Given the description of an element on the screen output the (x, y) to click on. 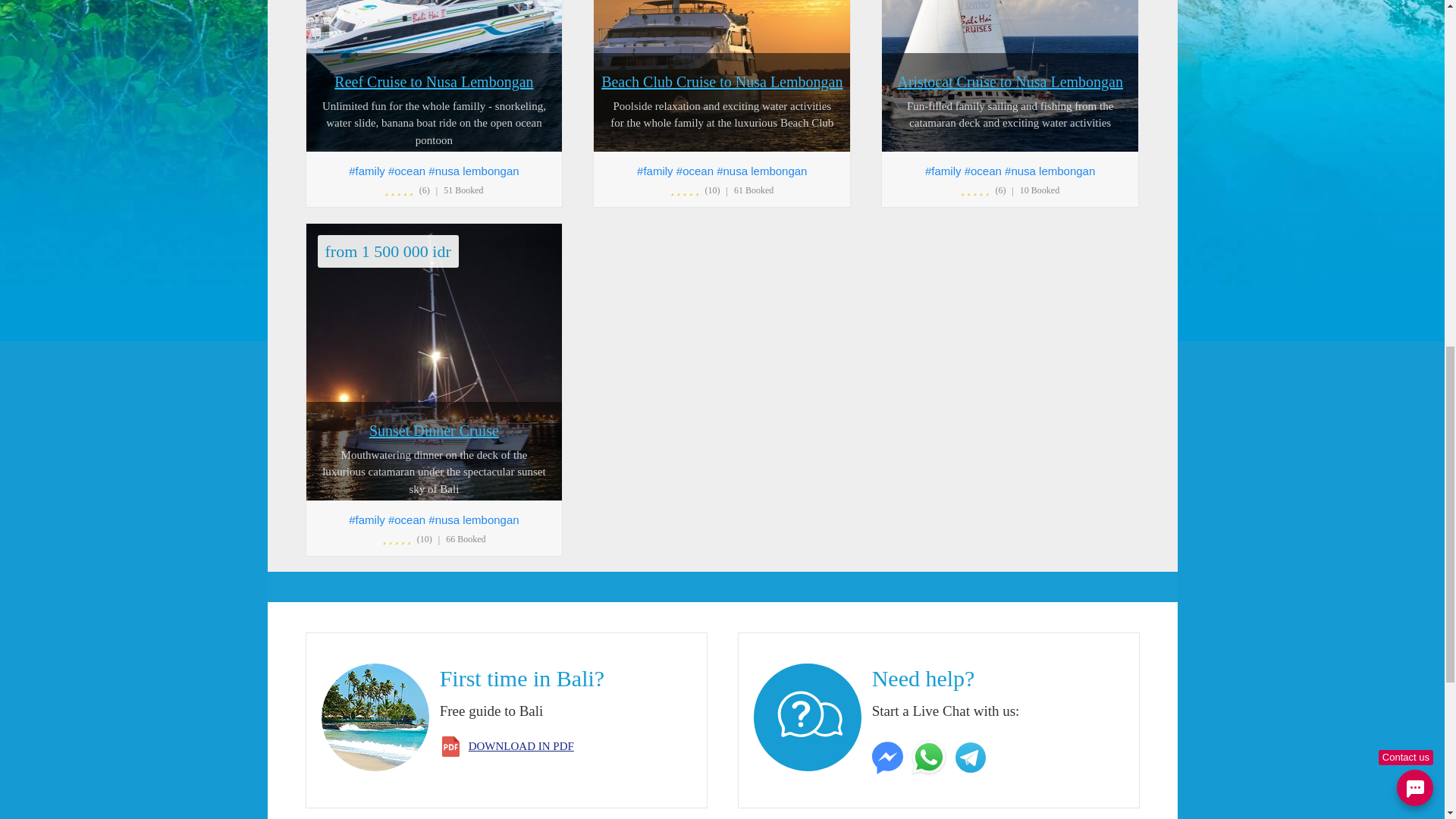
Chat with us on Facebook (889, 756)
Chat with us on Telegram (972, 756)
DOWNLOAD IN PDF (520, 746)
Chat with us on WhatsApp (930, 756)
